Given the description of an element on the screen output the (x, y) to click on. 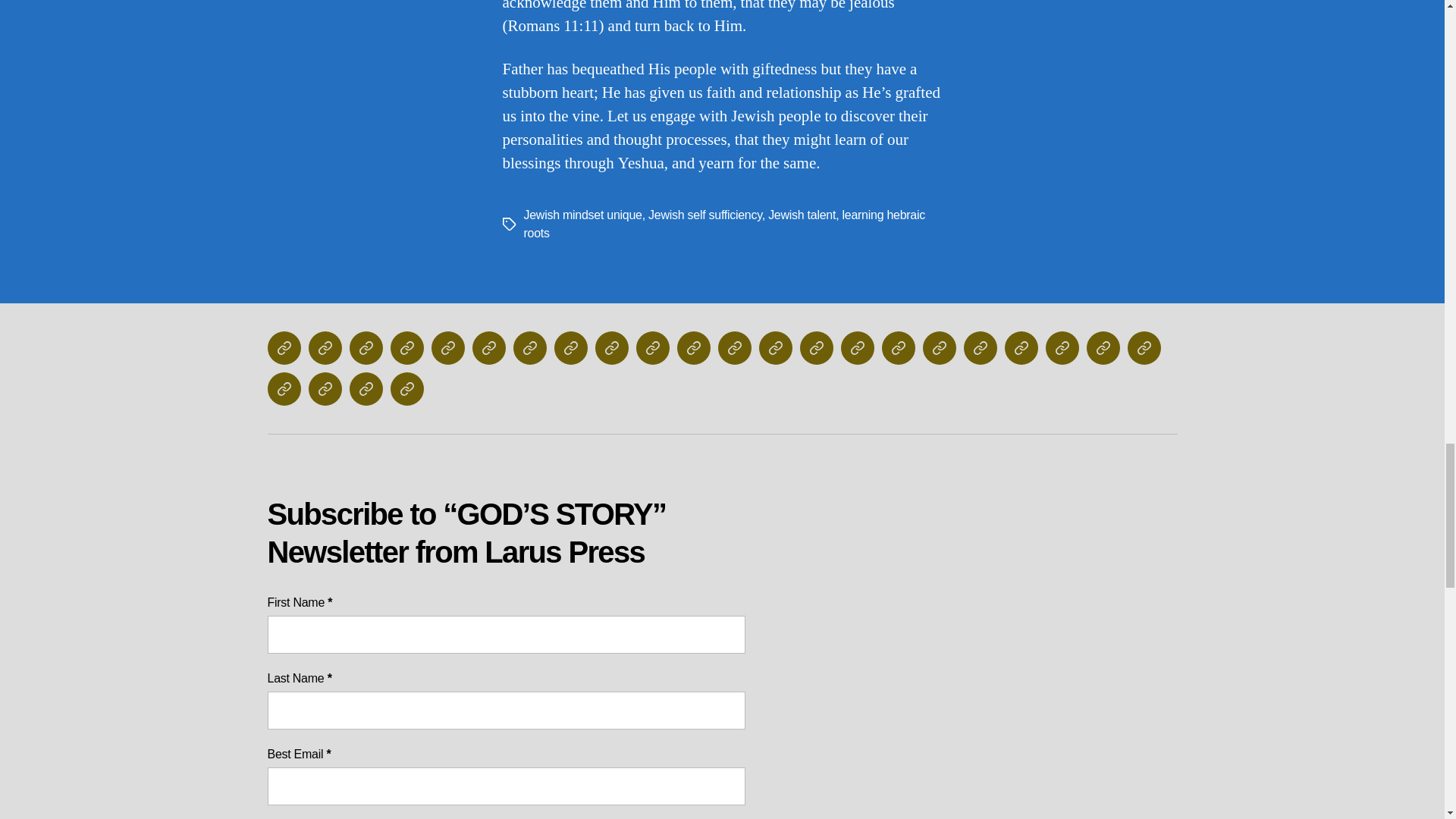
First Name (505, 634)
Best Email (505, 786)
Last Name (505, 710)
